Given the description of an element on the screen output the (x, y) to click on. 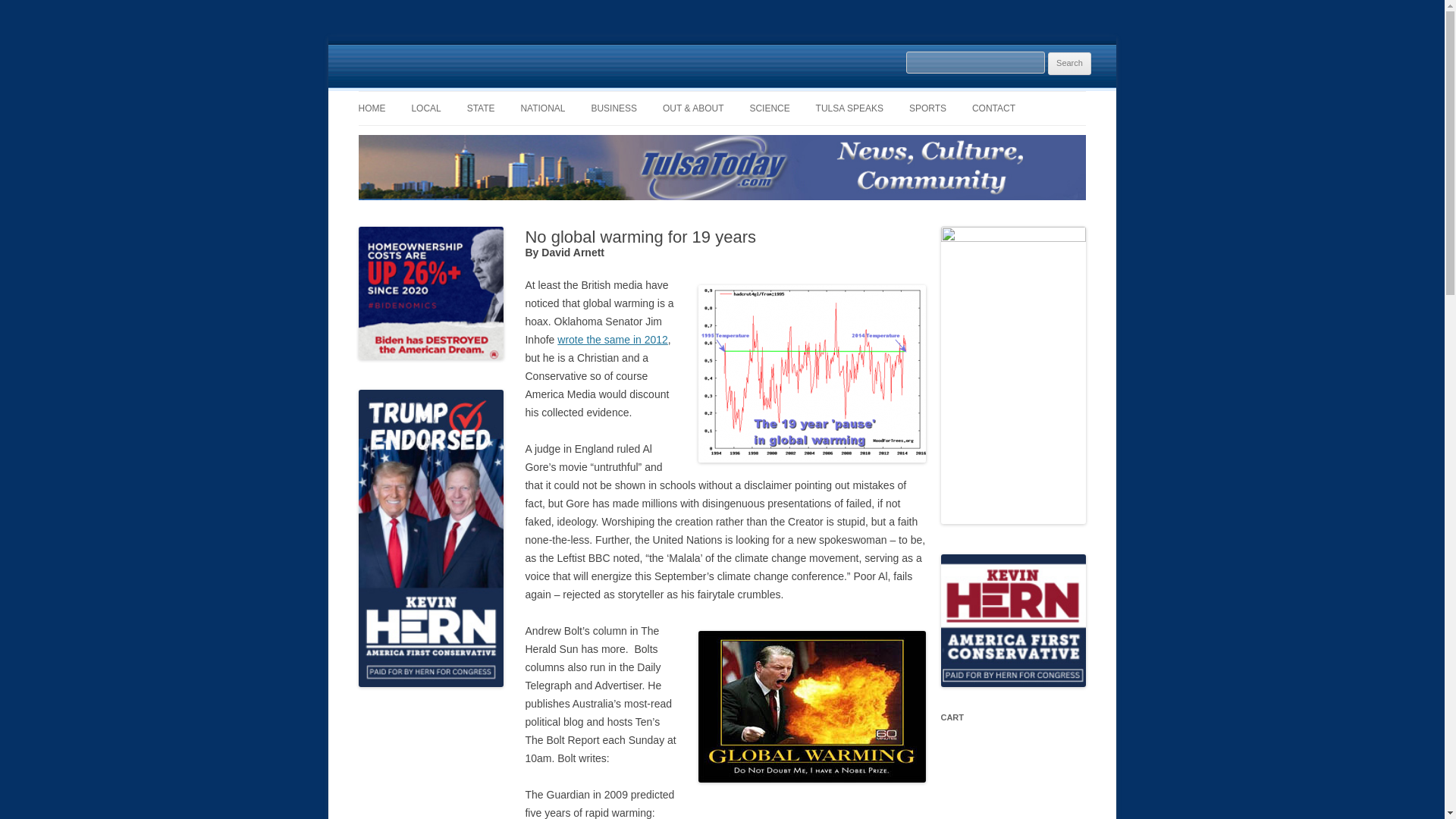
SCIENCE (769, 108)
NATIONAL (541, 108)
Search (1069, 63)
CONTACT (993, 108)
Skip to content (757, 95)
SPORTS (927, 108)
HOME (371, 108)
wrote the same in 2012 (612, 339)
TULSA SPEAKS (849, 108)
BUSINESS (614, 108)
Skip to content (757, 95)
wrote the same in 2012 (612, 339)
STATE (481, 108)
Search (1069, 63)
LOCAL (425, 108)
